Given the description of an element on the screen output the (x, y) to click on. 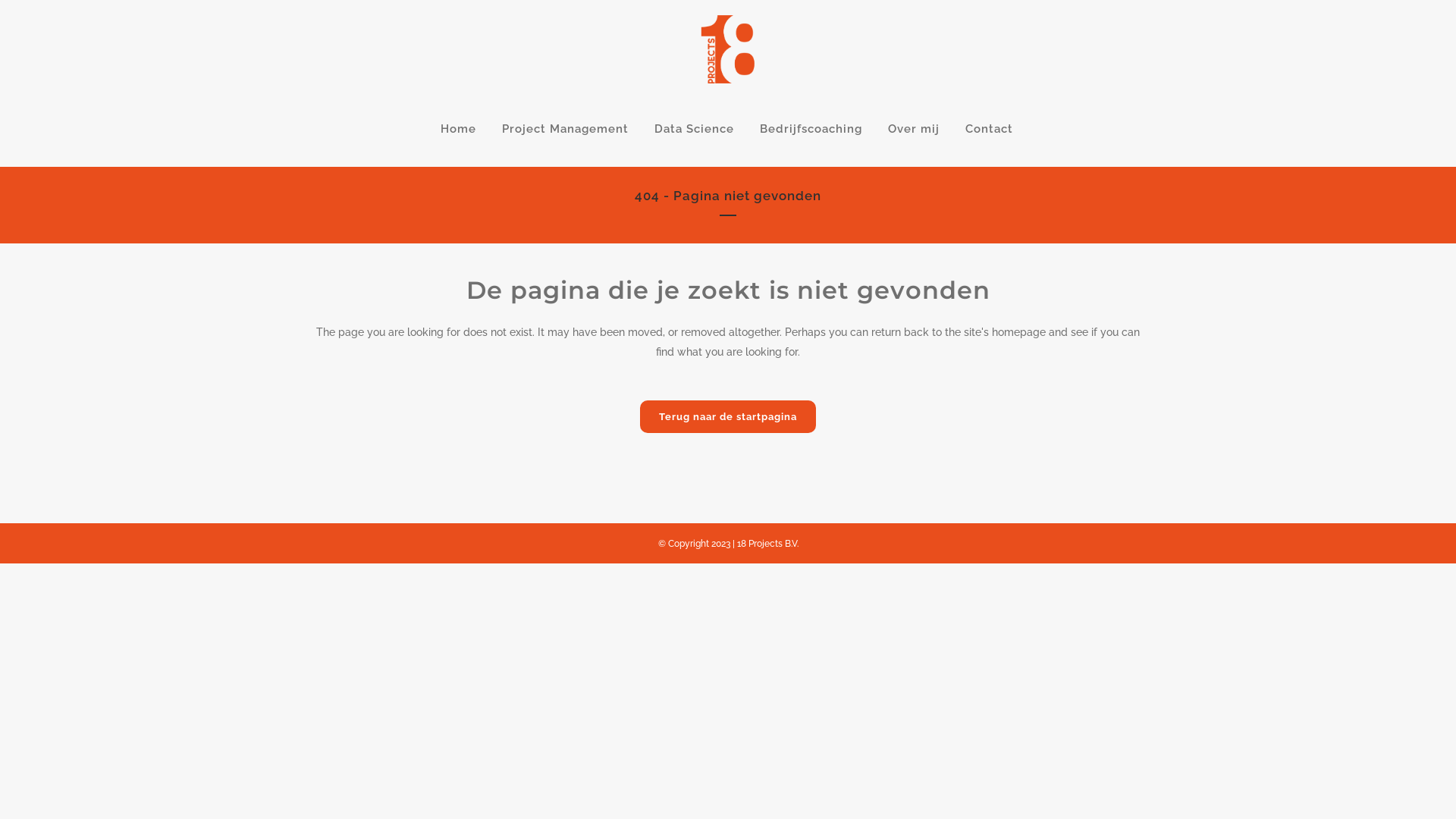
Home Element type: text (458, 128)
Data Science Element type: text (693, 128)
Terug naar de startpagina Element type: text (727, 416)
Project Management Element type: text (564, 128)
Bedrijfscoaching Element type: text (810, 128)
Contact Element type: text (989, 128)
Over mij Element type: text (913, 128)
